Given the description of an element on the screen output the (x, y) to click on. 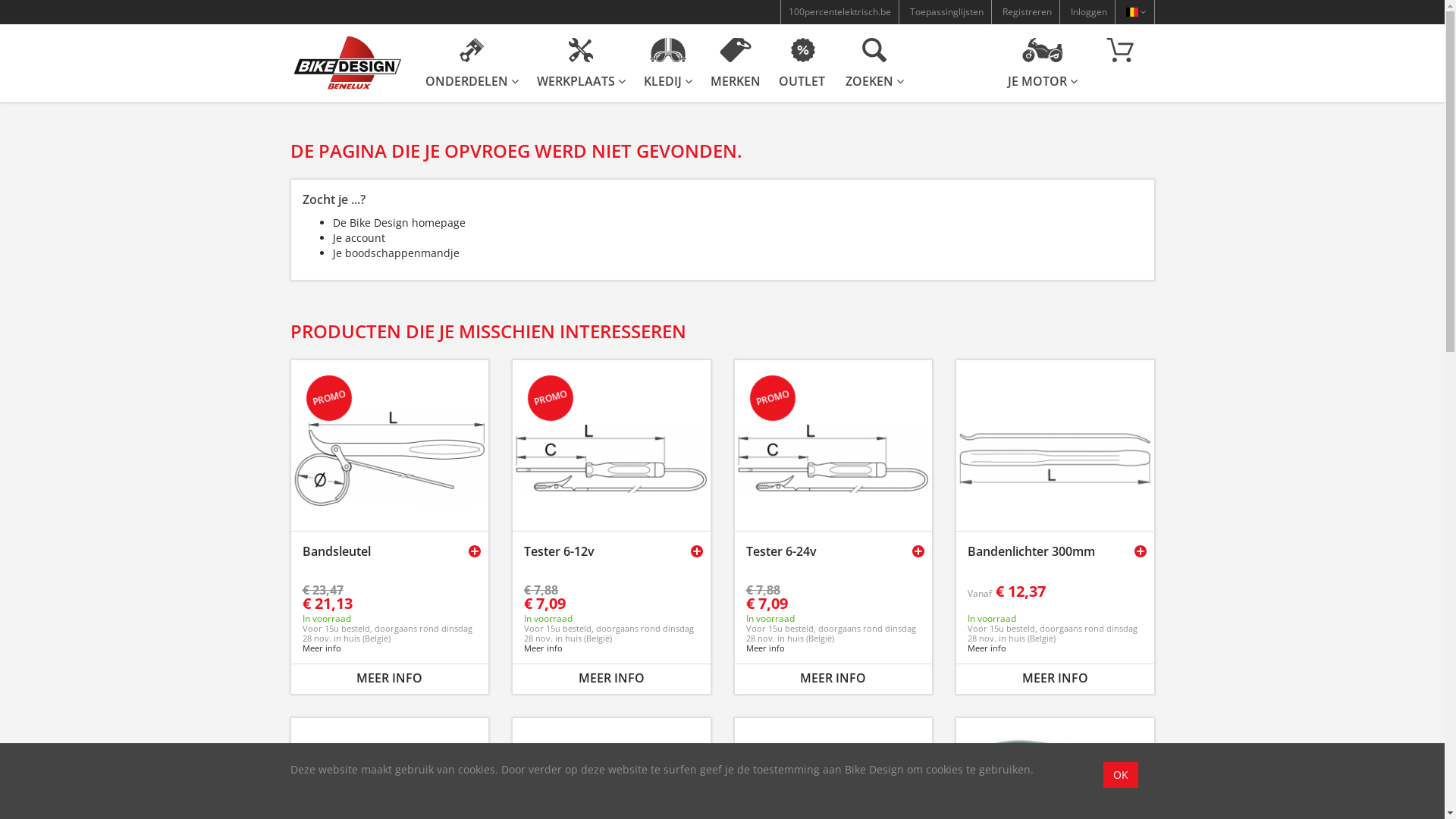
MEER INFO Element type: text (832, 678)
OUTLET Element type: text (801, 63)
Bandenlichter 300mm Element type: text (1034, 550)
Je account Element type: text (358, 237)
Meer info Element type: text (320, 648)
Tester 6-24v Element type: text (785, 550)
ONDERDELEN Element type: text (471, 63)
MERKEN Element type: text (734, 63)
Toepassinglijsten Element type: text (945, 12)
Bandsleutel Element type: text (339, 550)
Je boodschappenmandje Element type: text (395, 252)
Registreren Element type: text (1025, 12)
MEER INFO Element type: text (1054, 678)
JE MOTOR Element type: text (1041, 63)
Tester 6-12v Element type: text (563, 550)
MEER INFO Element type: text (389, 678)
De Bike Design homepage Element type: text (398, 222)
Meer info Element type: text (765, 648)
OK Element type: text (1120, 774)
Meer info Element type: text (543, 648)
MEER INFO Element type: text (611, 678)
Meer info Element type: text (986, 648)
100percentelektrisch.be Element type: text (839, 12)
WERKPLAATS Element type: text (580, 63)
Inloggen Element type: text (1088, 12)
ZOEKEN Element type: text (873, 63)
KLEDIJ Element type: text (666, 63)
